Given the description of an element on the screen output the (x, y) to click on. 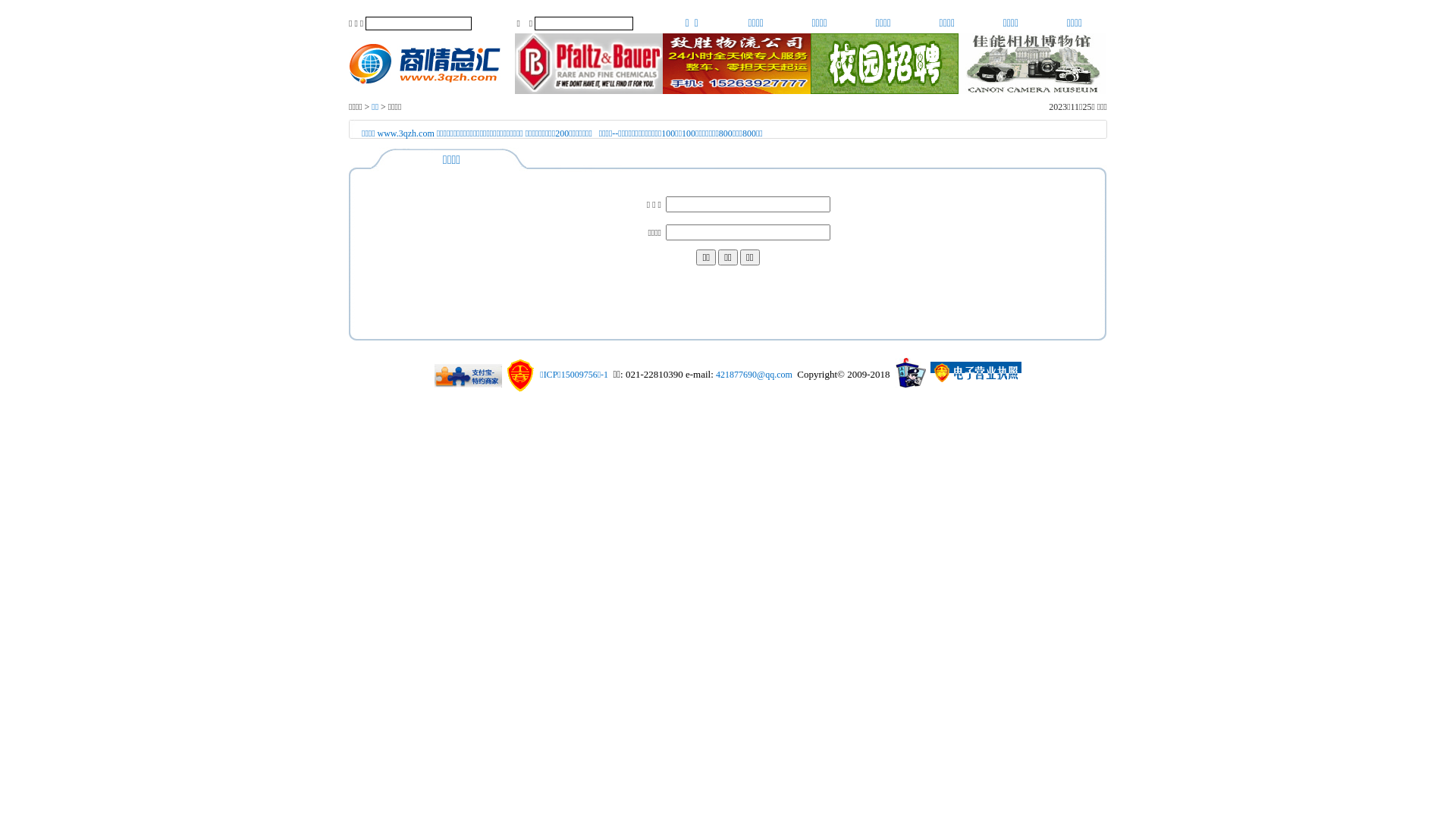
421877690@qq.com Element type: text (753, 374)
